Given the description of an element on the screen output the (x, y) to click on. 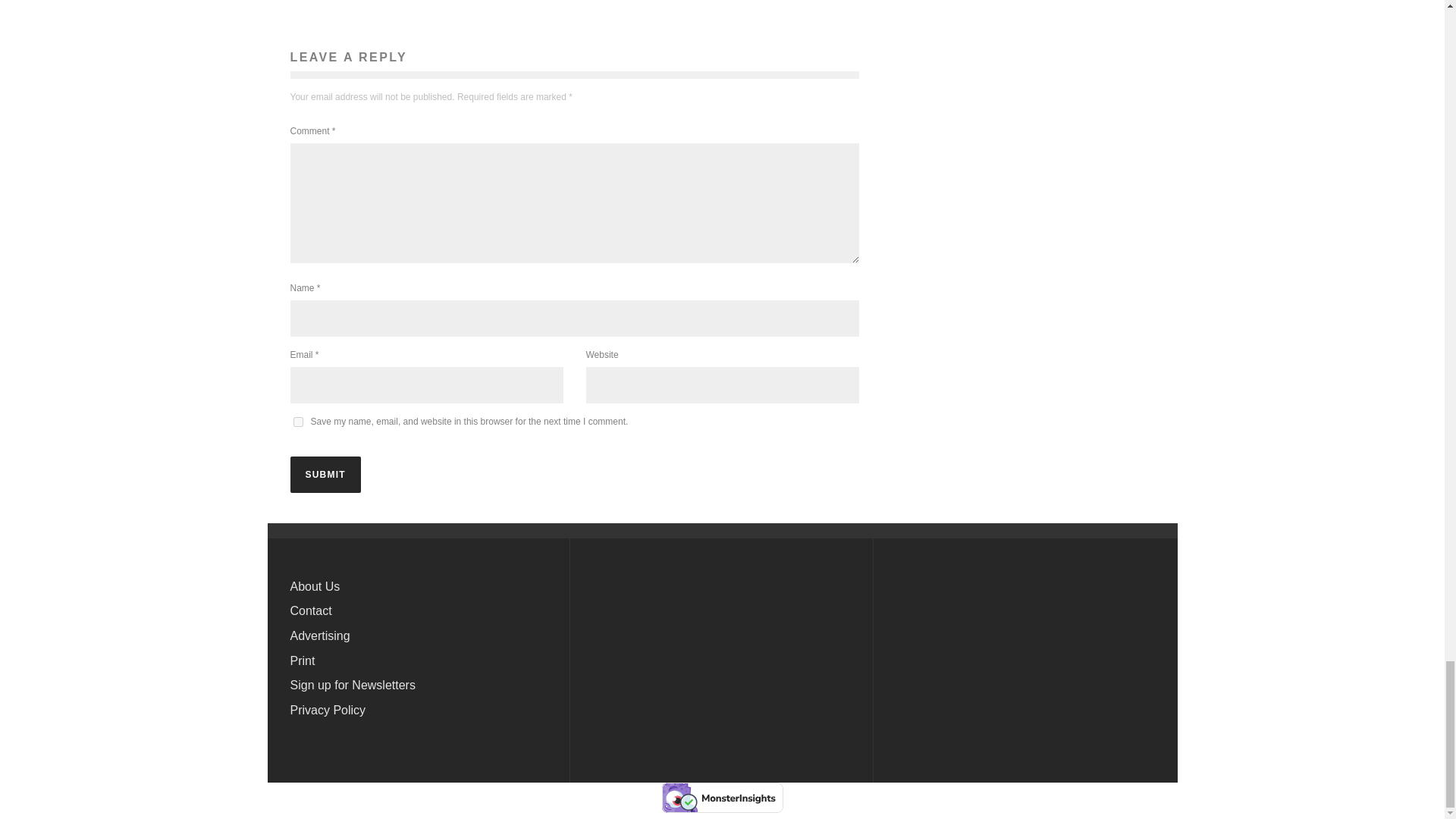
Submit (324, 474)
Verified by MonsterInsights (722, 797)
yes (297, 421)
